Given the description of an element on the screen output the (x, y) to click on. 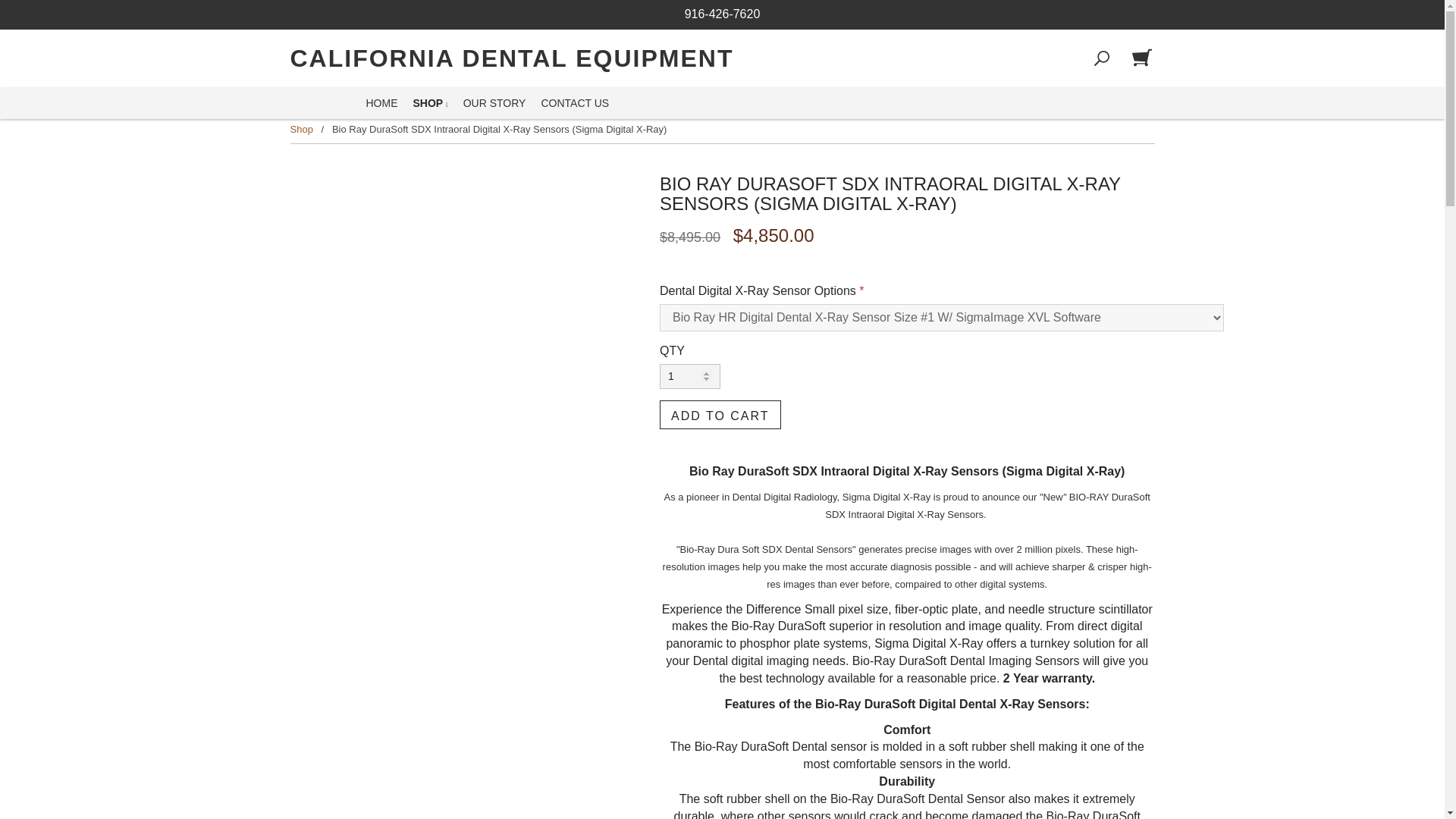
Add to Cart (719, 414)
1 (689, 376)
HOME (381, 102)
CALIFORNIA DENTAL EQUIPMENT (511, 58)
SHOP (429, 102)
